Given the description of an element on the screen output the (x, y) to click on. 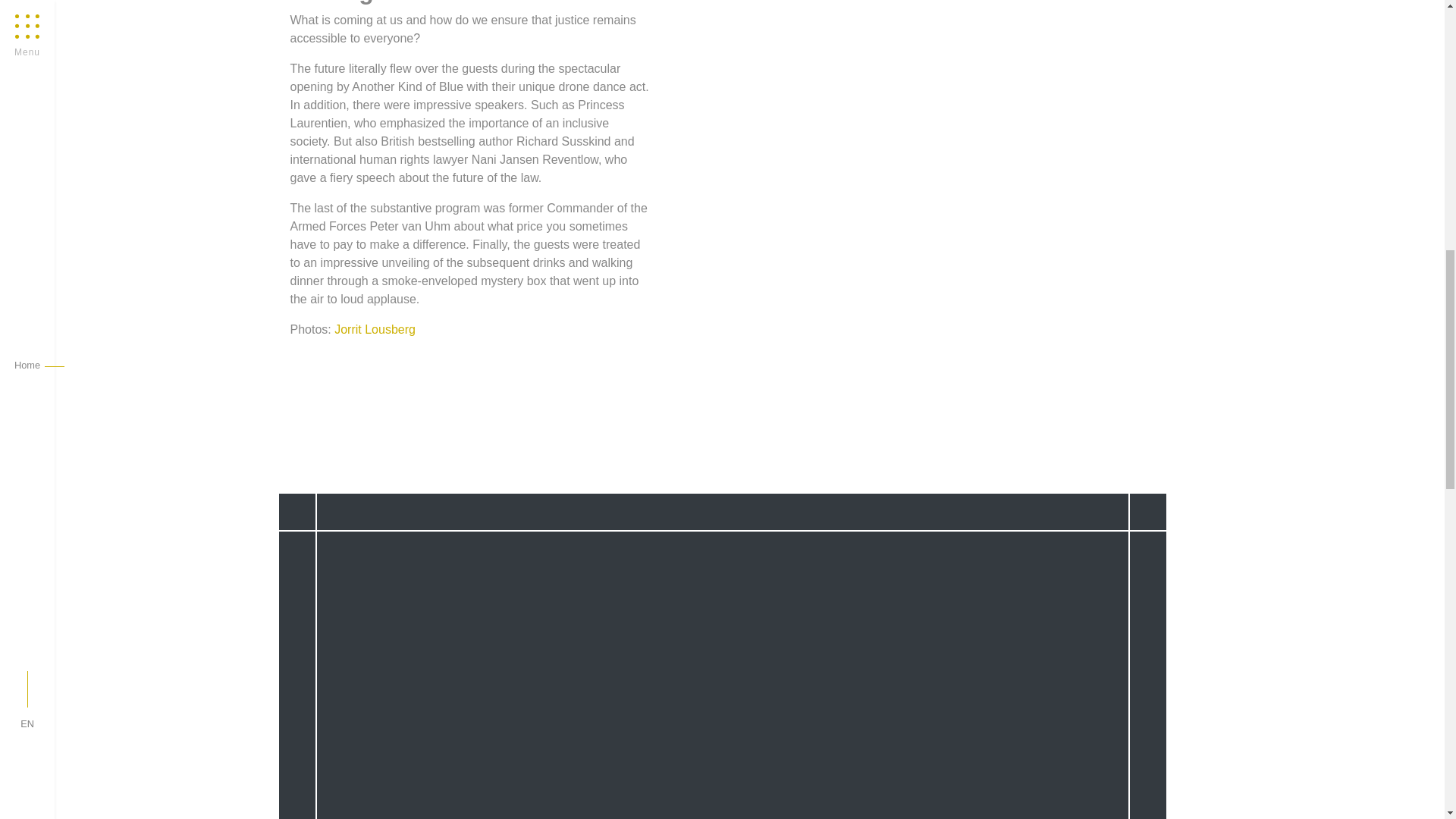
Jorrit Lousberg (374, 328)
